Given the description of an element on the screen output the (x, y) to click on. 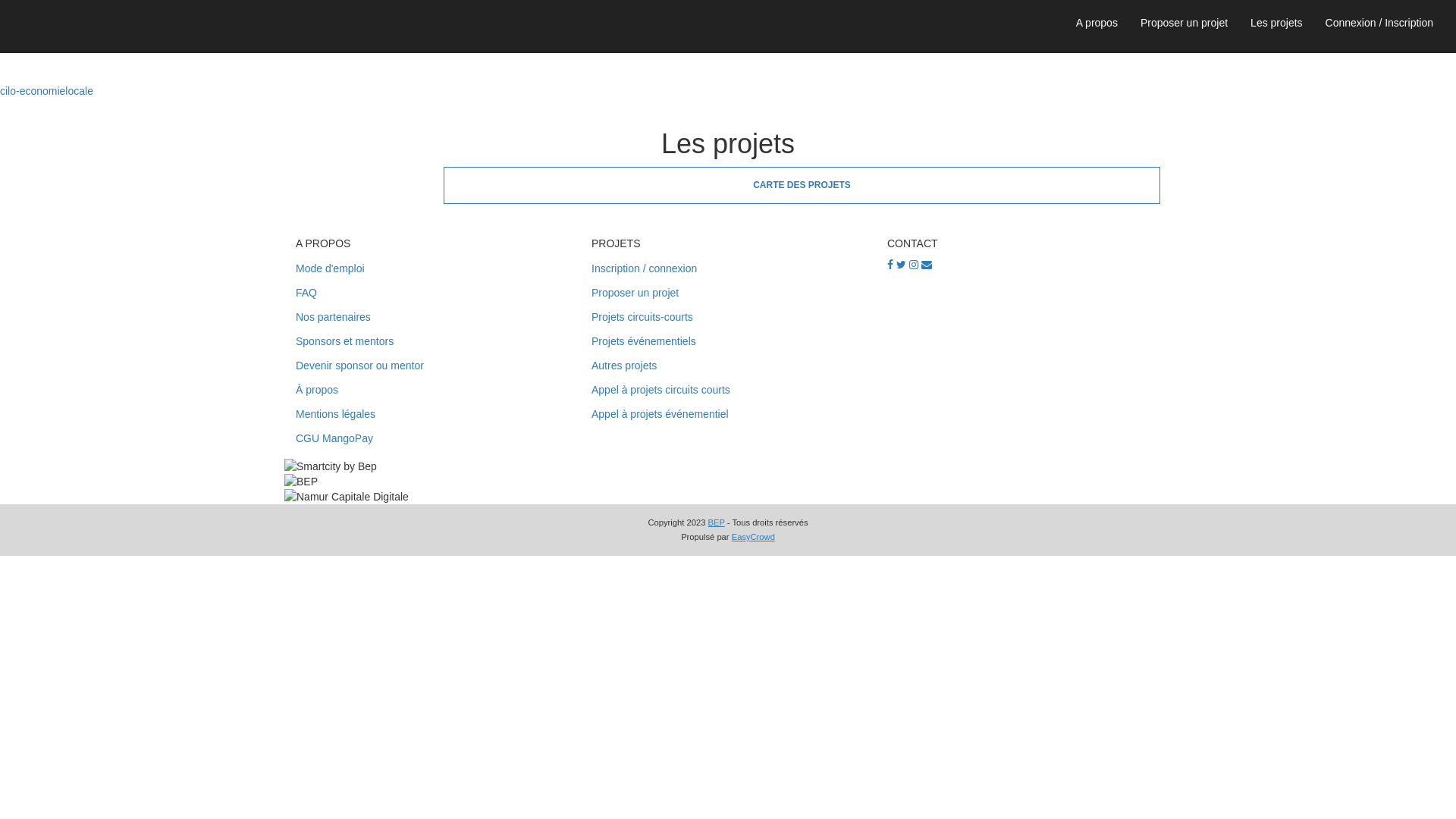
CGU MangoPay Element type: text (431, 438)
Mode d'emploi Element type: text (431, 269)
Les projets Element type: text (1276, 22)
Autres projets Element type: text (727, 366)
Proposer un projet Element type: text (1184, 22)
CARTE DES PROJETS Element type: text (801, 184)
FAQ Element type: text (431, 293)
EasyCrowd Element type: text (753, 536)
Devenir sponsor ou mentor Element type: text (431, 366)
Inscription / connexion Element type: text (727, 269)
Projets circuits-courts Element type: text (727, 317)
BEP Element type: text (715, 522)
Proposer un projet Element type: text (727, 293)
A propos Element type: text (1096, 22)
Sponsors et mentors Element type: text (431, 341)
Nos partenaires Element type: text (431, 317)
Connexion / Inscription Element type: text (1379, 22)
